Given the description of an element on the screen output the (x, y) to click on. 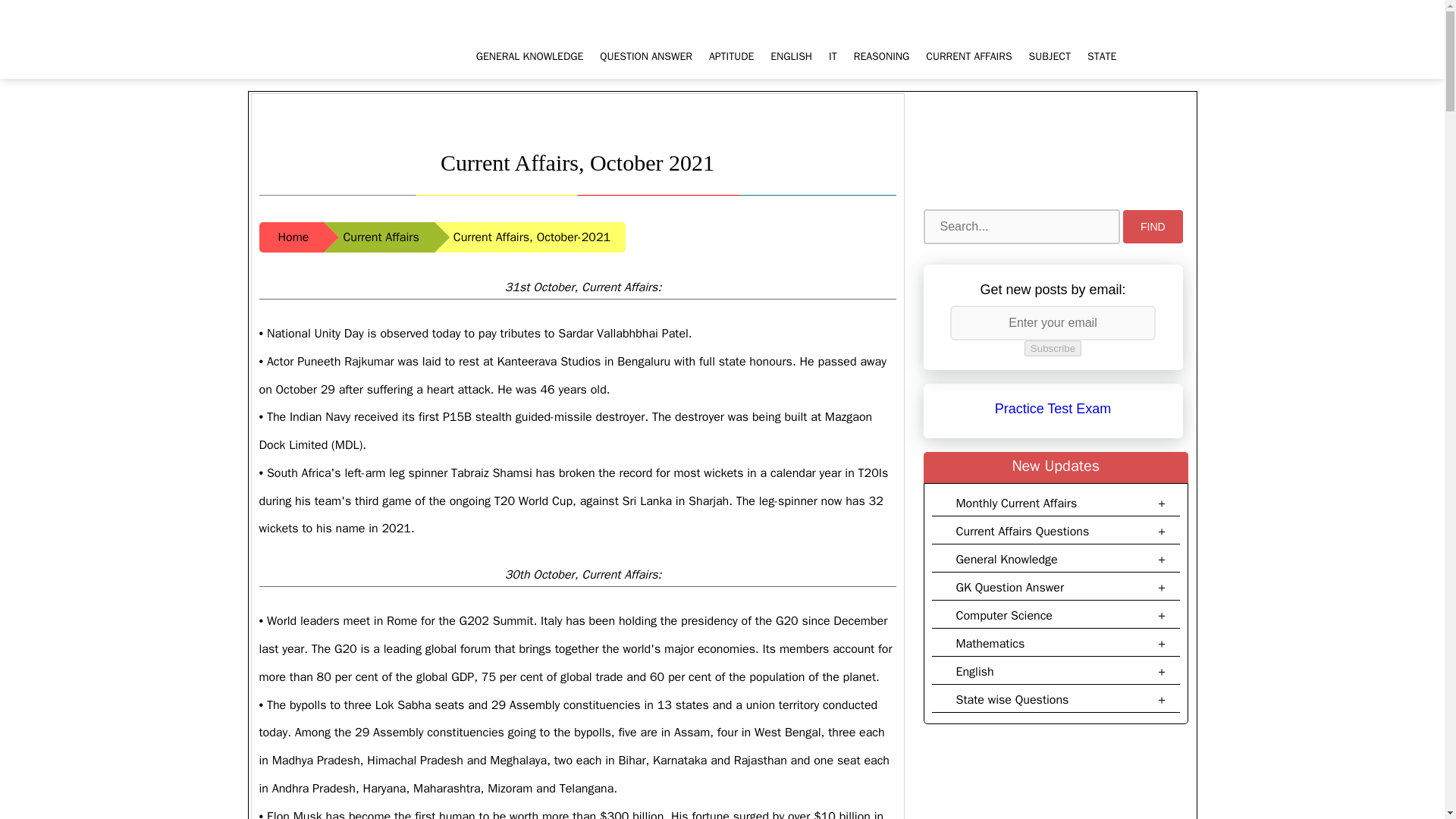
Current Affairs (378, 236)
IT (840, 50)
STATE (1109, 50)
Subscribe (1053, 348)
REASONING (889, 50)
QUESTION ANSWER (654, 50)
Practice Test Exam (1053, 408)
GENERAL KNOWLEDGE (537, 50)
Current Affairs, October-2021 (529, 236)
CURRENT AFFAIRS (976, 50)
SUBJECT (1058, 50)
ENGLISH (799, 50)
APTITUDE (739, 50)
Find (1152, 226)
Find (1152, 226)
